Given the description of an element on the screen output the (x, y) to click on. 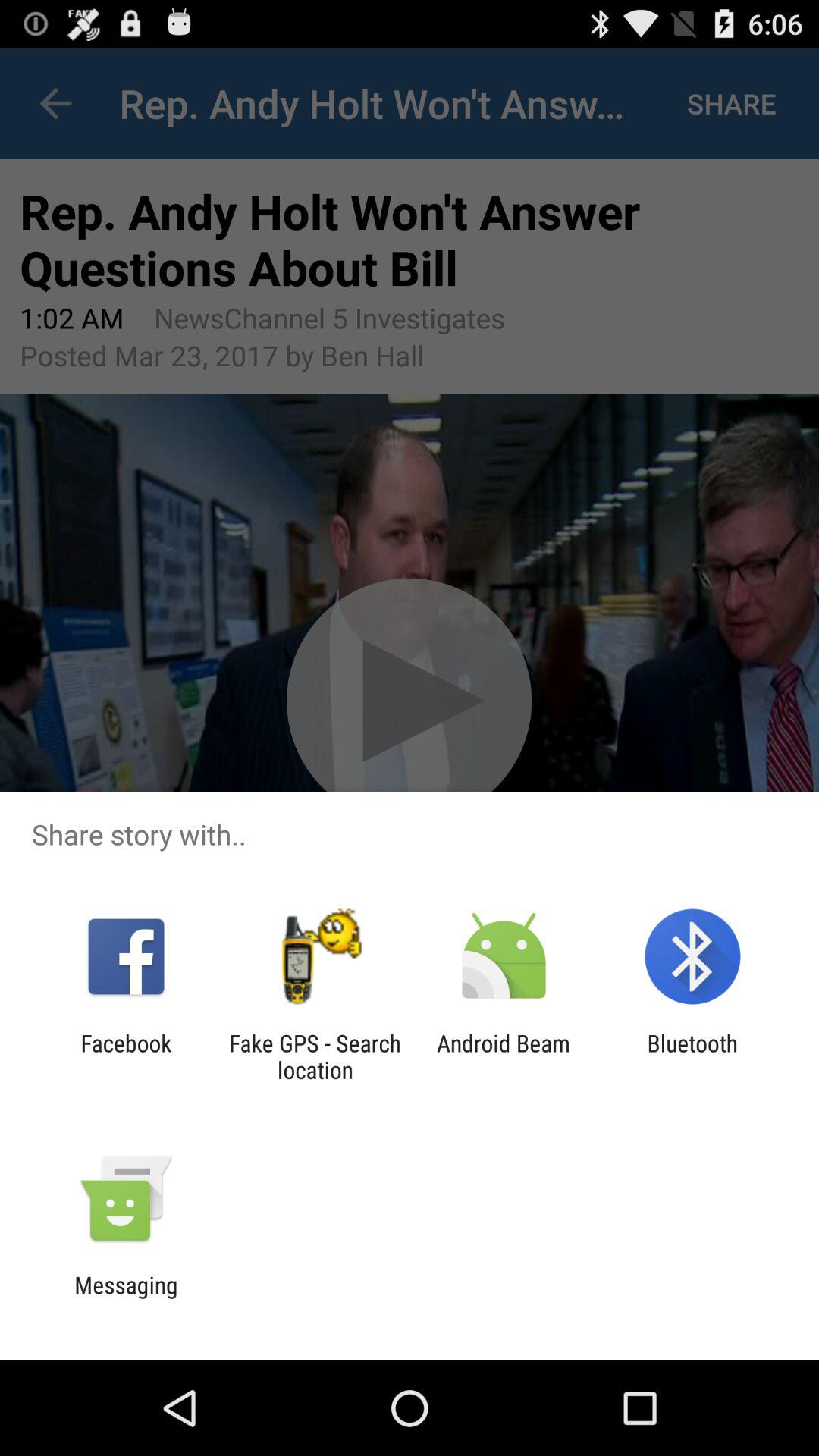
tap icon next to the android beam app (692, 1056)
